Given the description of an element on the screen output the (x, y) to click on. 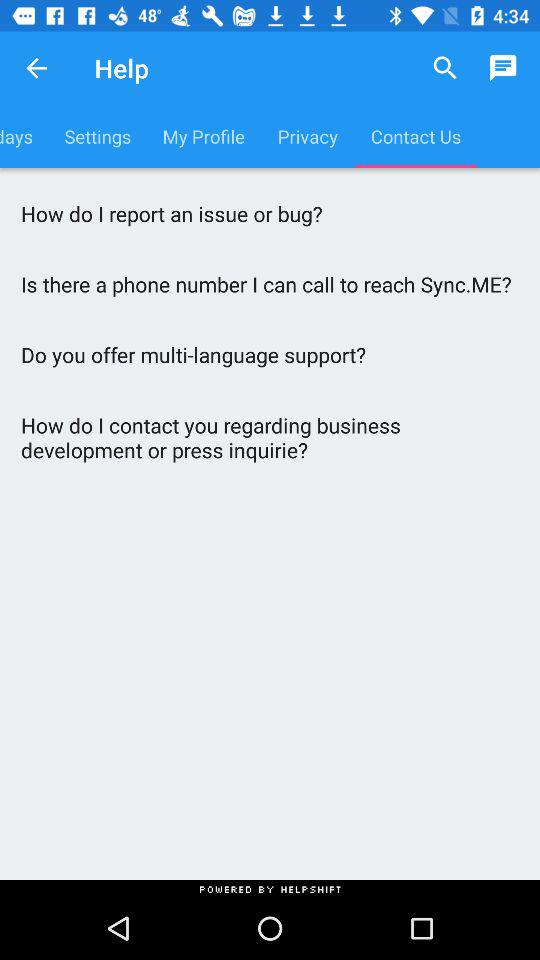
turn on is there a item (270, 284)
